Given the description of an element on the screen output the (x, y) to click on. 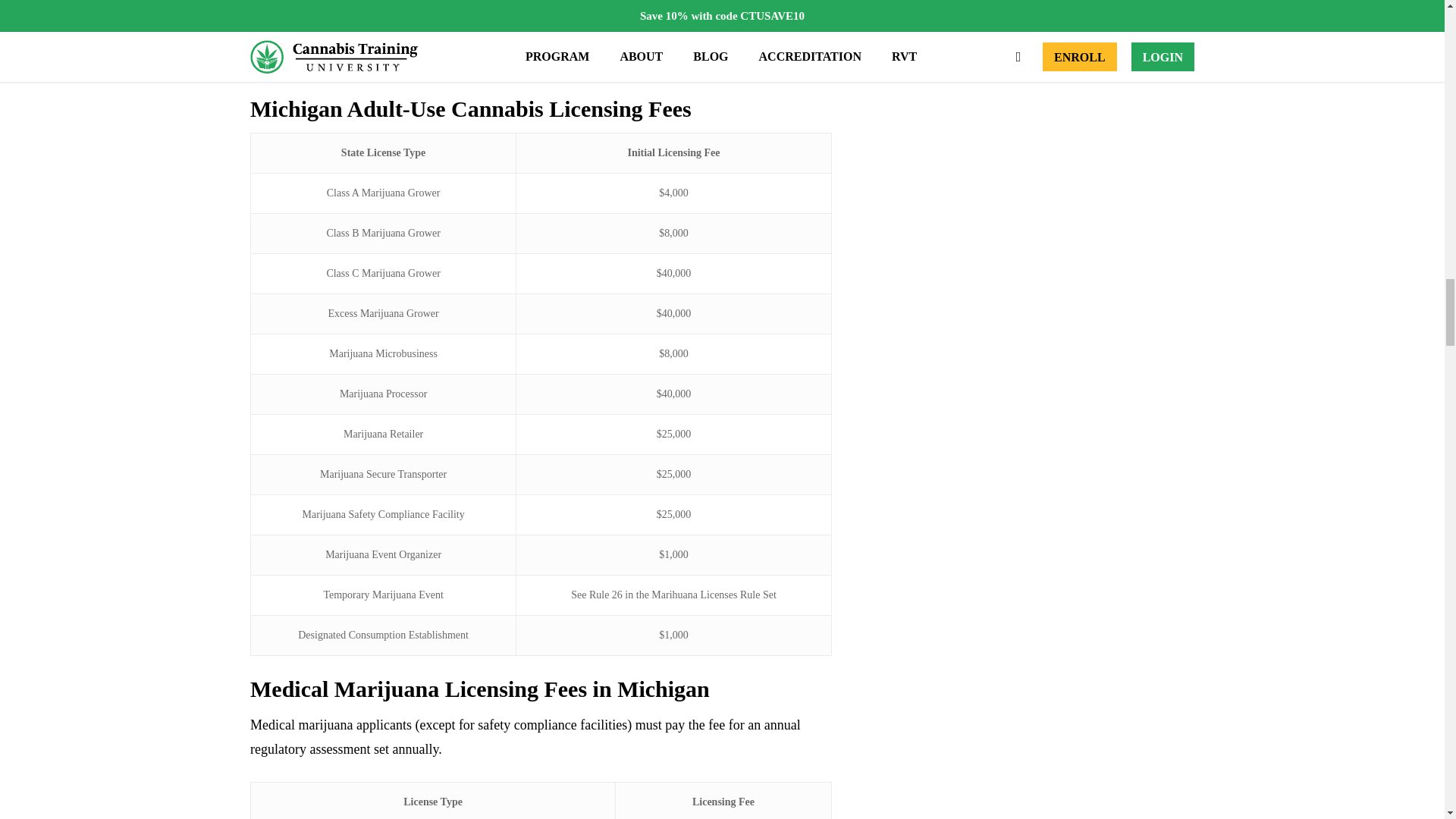
How to Start a Marijuana Business in Michigan 1 (540, 30)
